Given the description of an element on the screen output the (x, y) to click on. 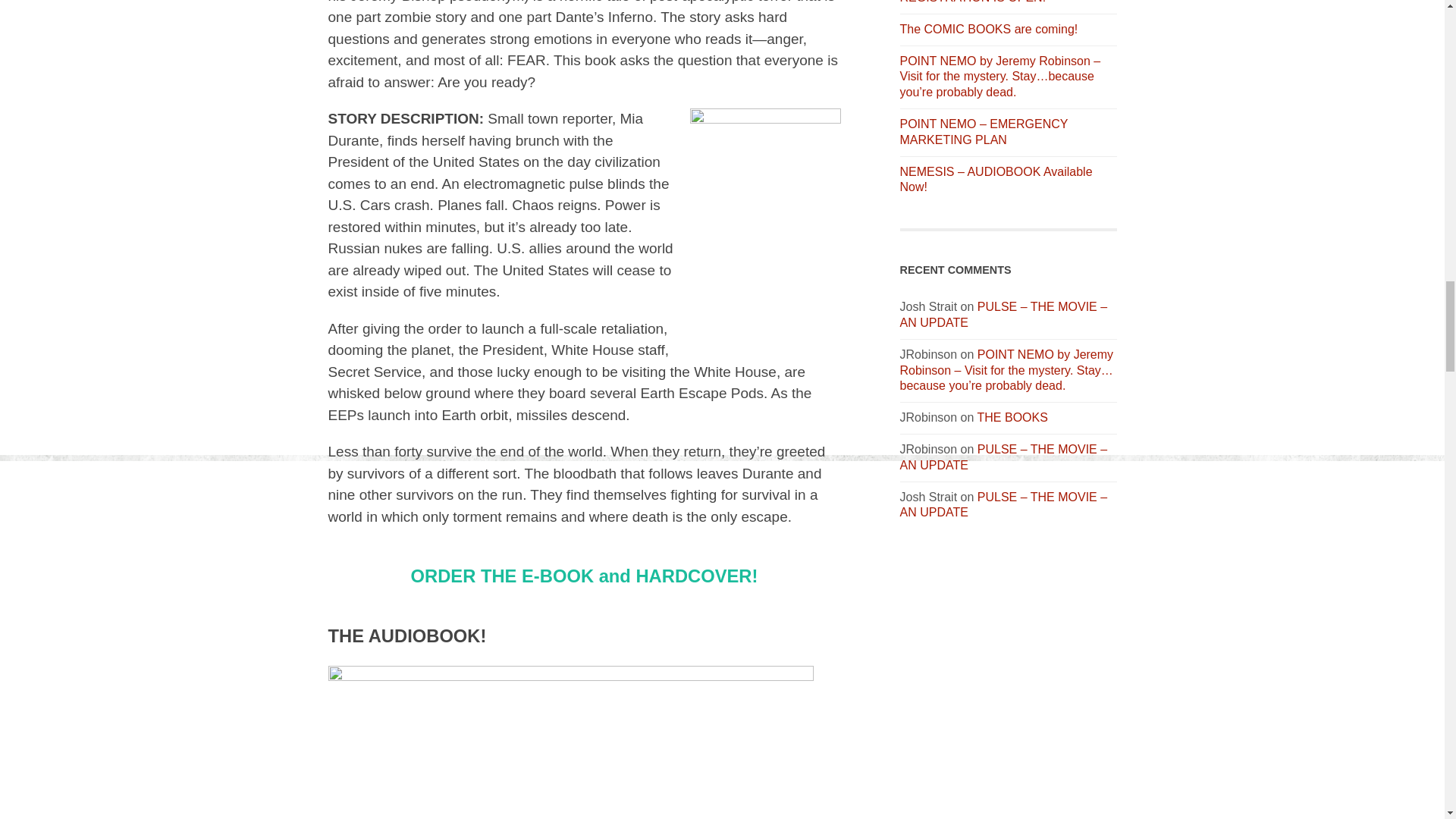
ORDER THE E-BOOK and HARDCOVER! (584, 575)
